Given the description of an element on the screen output the (x, y) to click on. 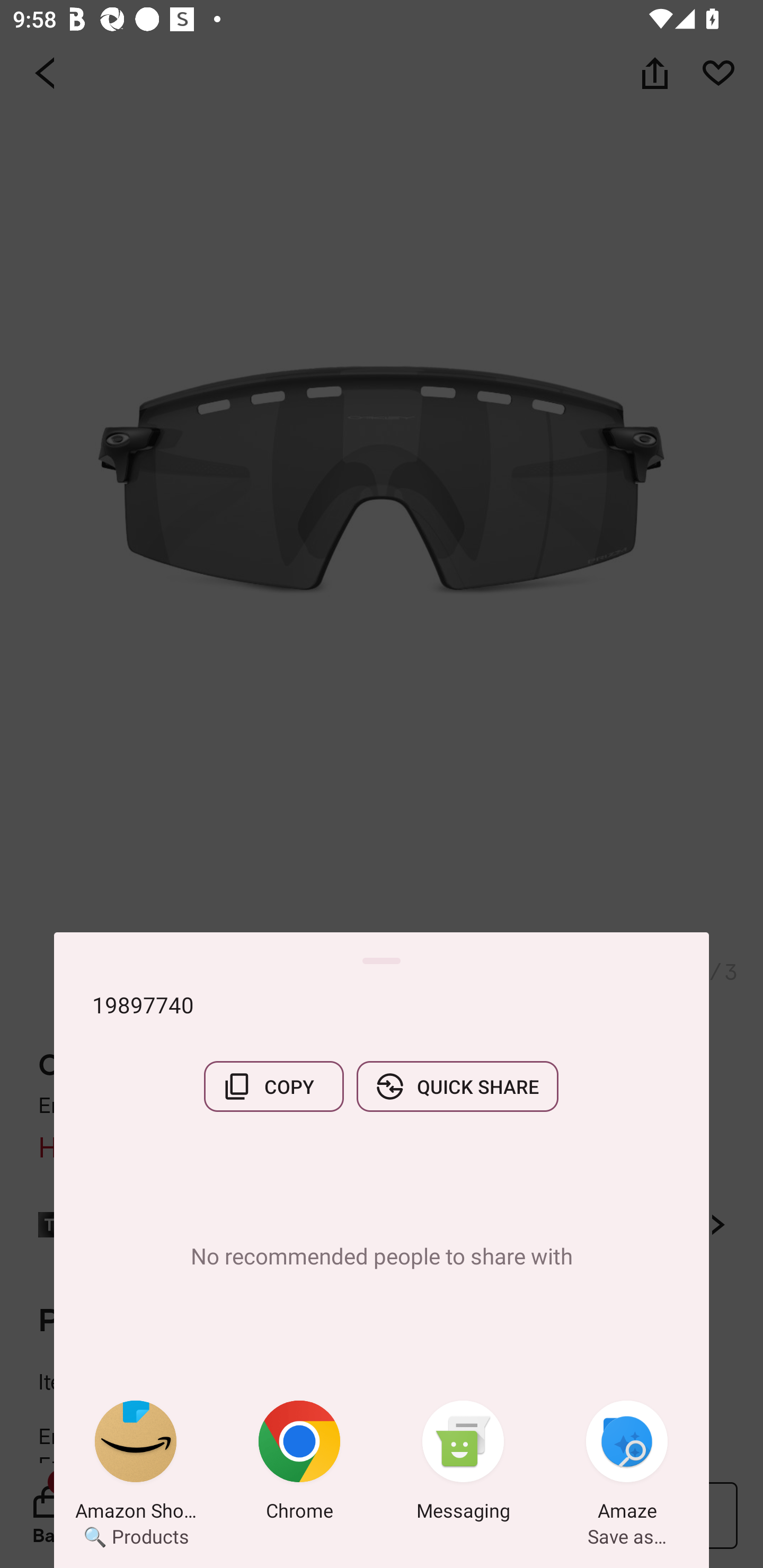
COPY (273, 1086)
QUICK SHARE (457, 1086)
Amazon Shopping 🔍 Products (135, 1463)
Chrome (299, 1463)
Messaging (463, 1463)
Amaze Save as… (626, 1463)
